Given the description of an element on the screen output the (x, y) to click on. 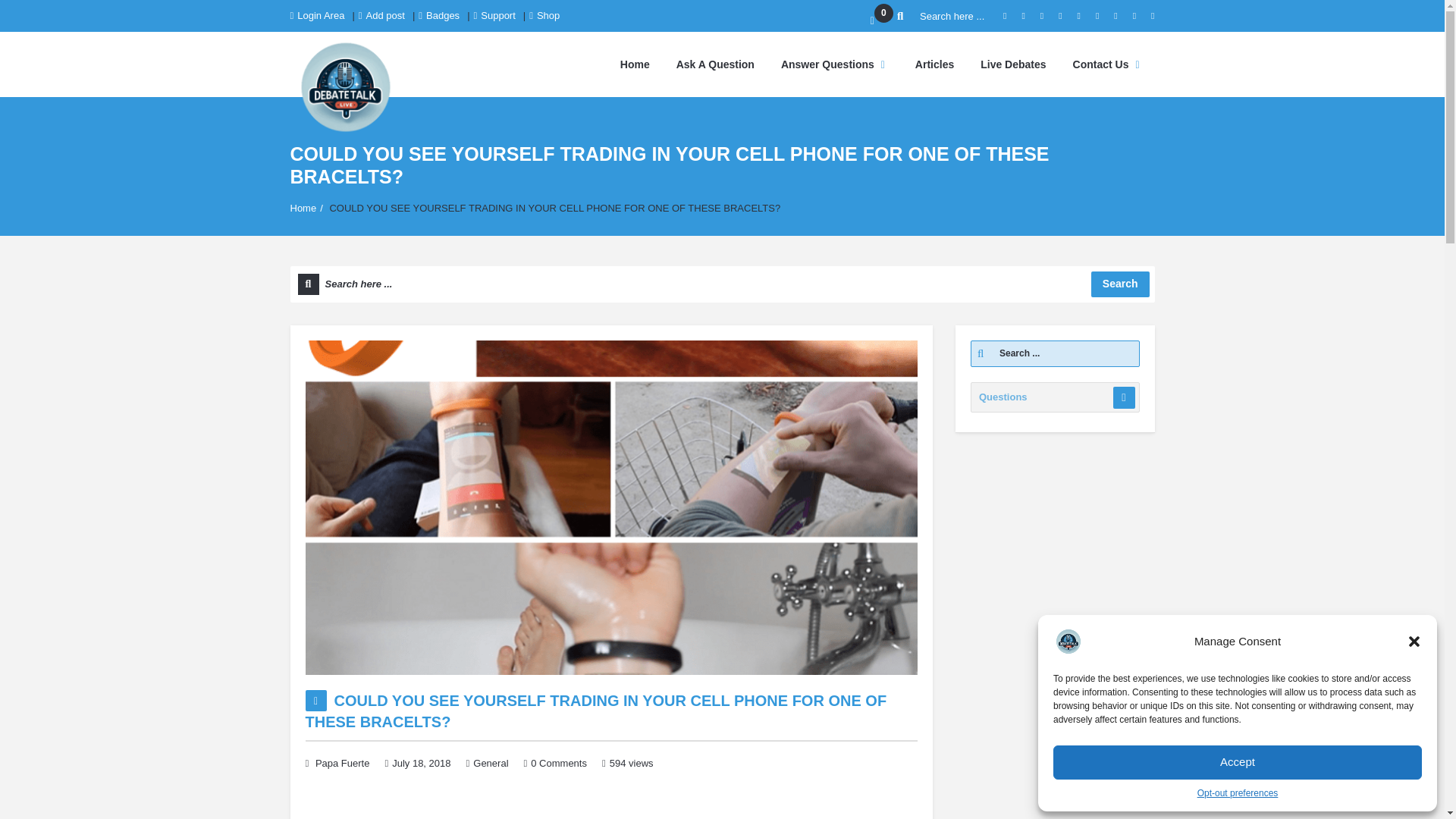
Search here ... (942, 15)
Search here ... (721, 284)
Posts by Papa Fuerte (342, 763)
Opt-out preferences (1237, 793)
Accept (1237, 762)
Search here ... (942, 15)
DebateTalkLive (344, 86)
Search here ... (721, 284)
